Given the description of an element on the screen output the (x, y) to click on. 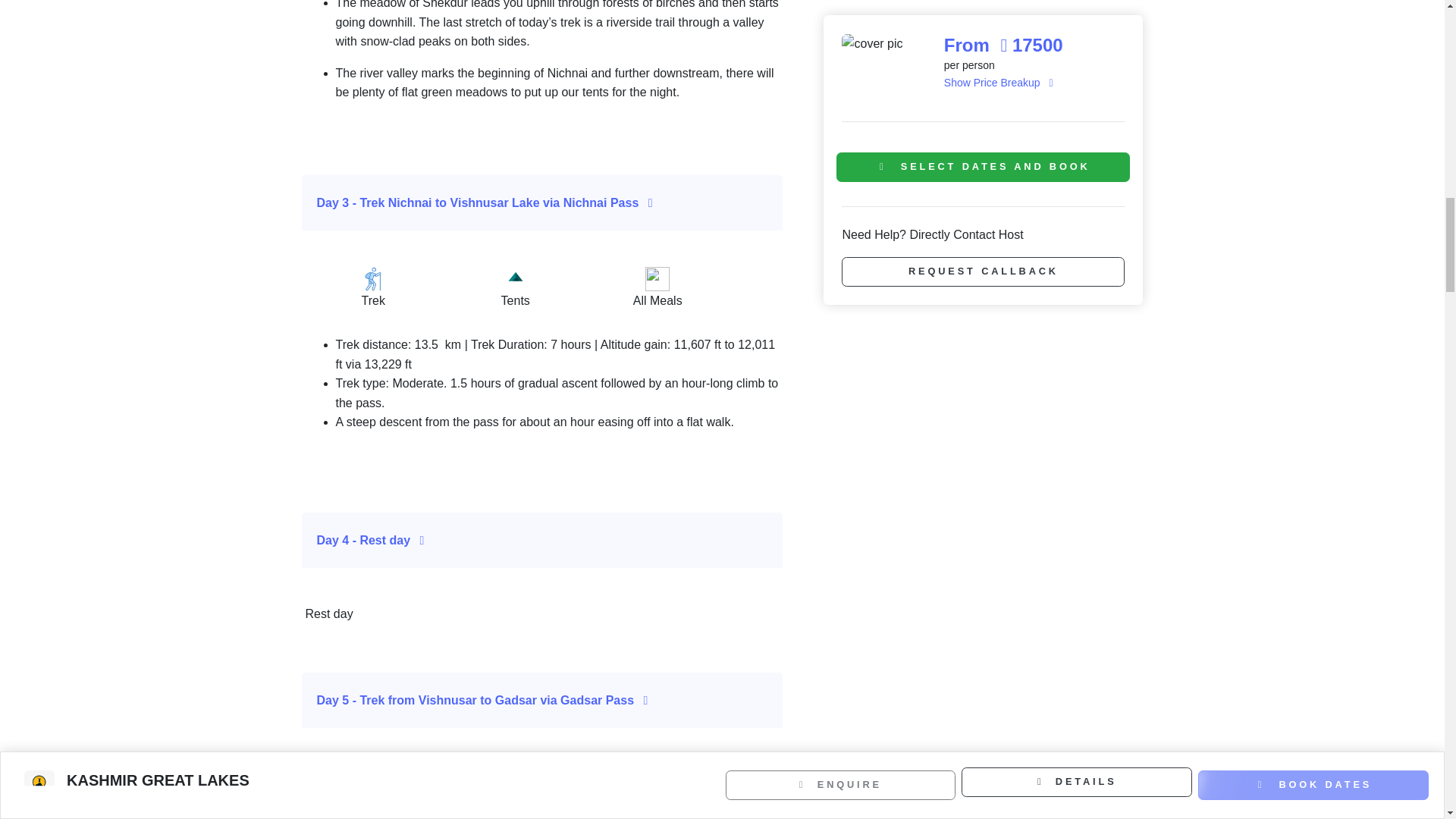
Day 3 - Trek Nichnai to Vishnusar Lake via Nichnai Pass (542, 202)
Day 4 - Rest day (542, 540)
Day 5 - Trek from Vishnusar to Gadsar via Gadsar Pass (542, 700)
